Given the description of an element on the screen output the (x, y) to click on. 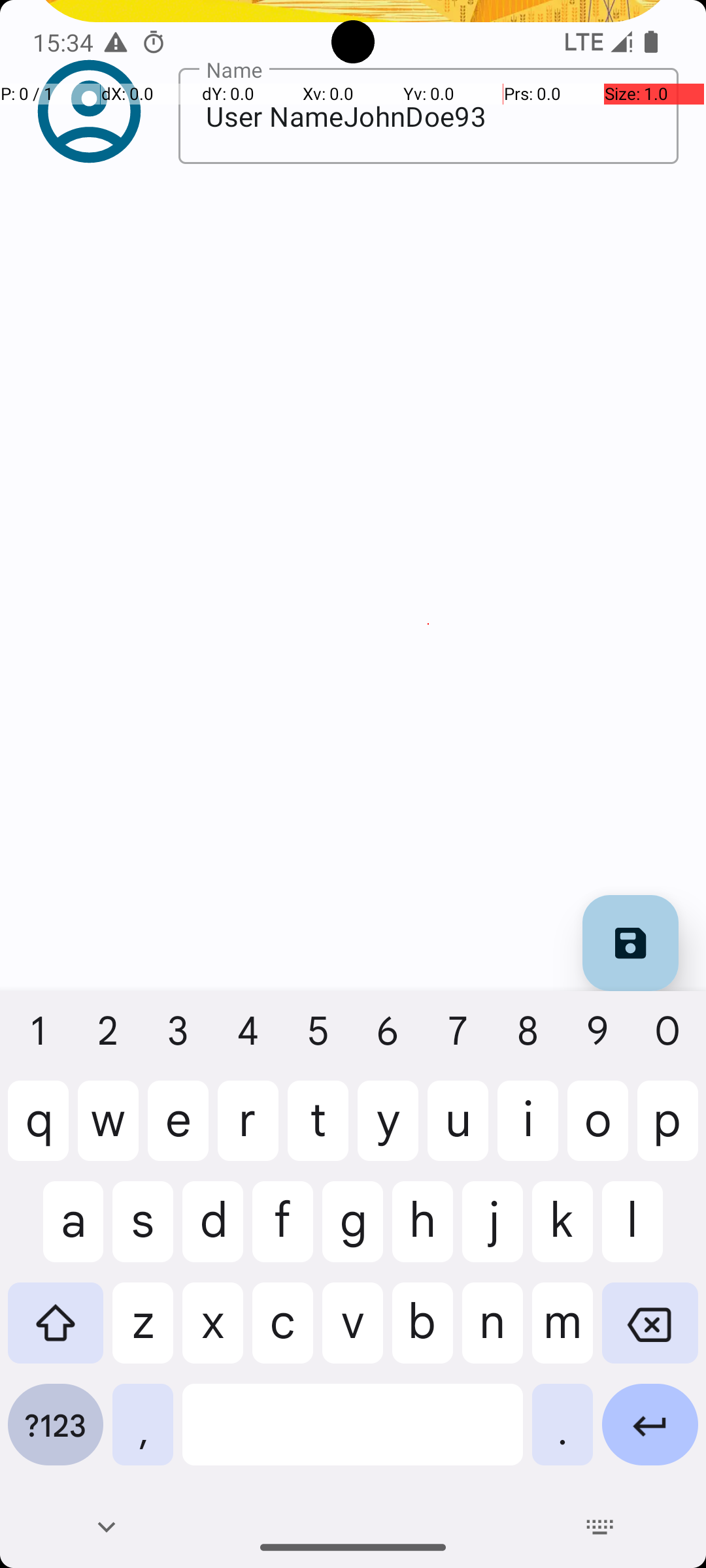
User NameJohnDoe93 Element type: android.widget.EditText (428, 116)
